Given the description of an element on the screen output the (x, y) to click on. 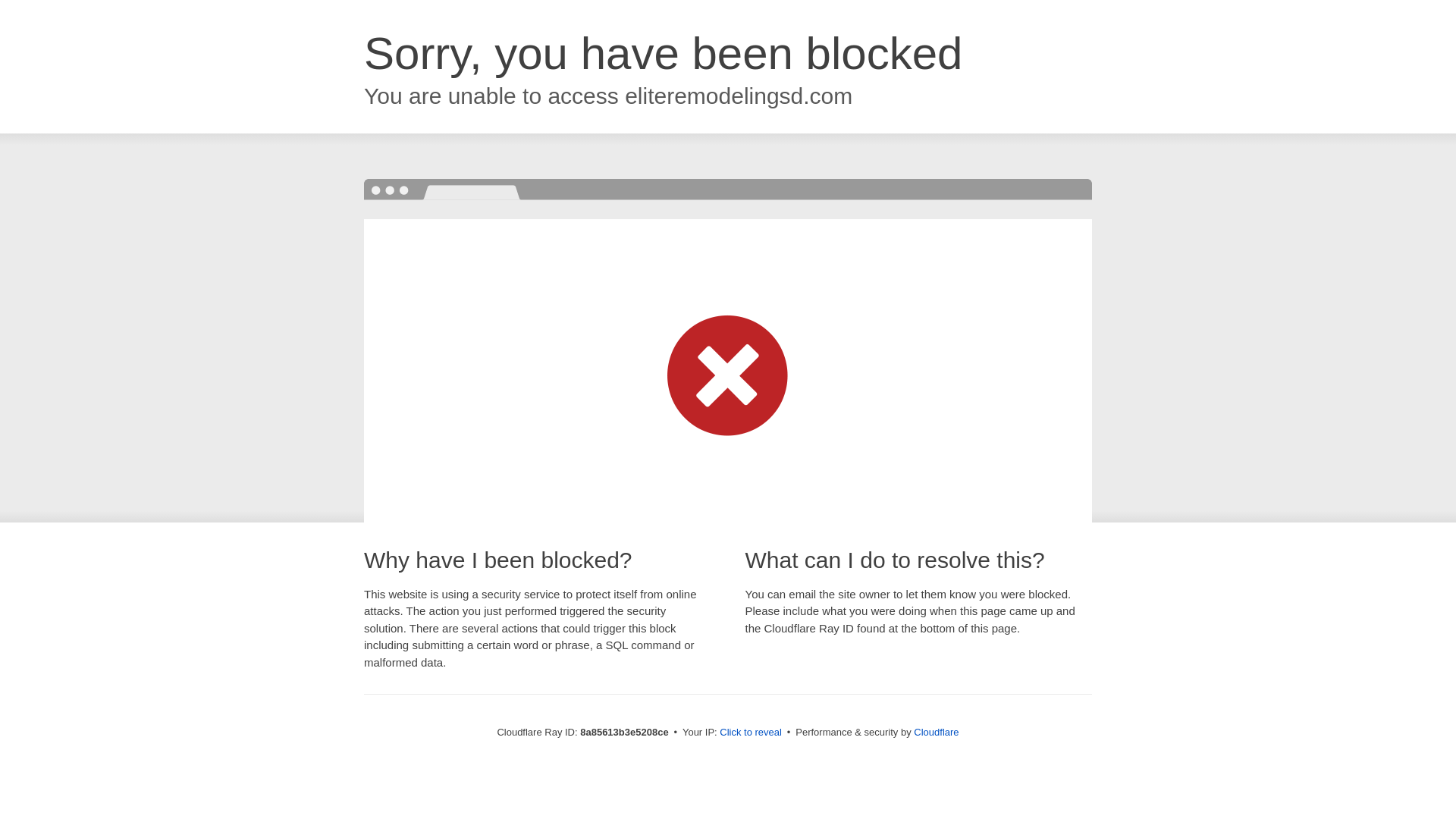
Cloudflare (936, 731)
Click to reveal (750, 732)
